Given the description of an element on the screen output the (x, y) to click on. 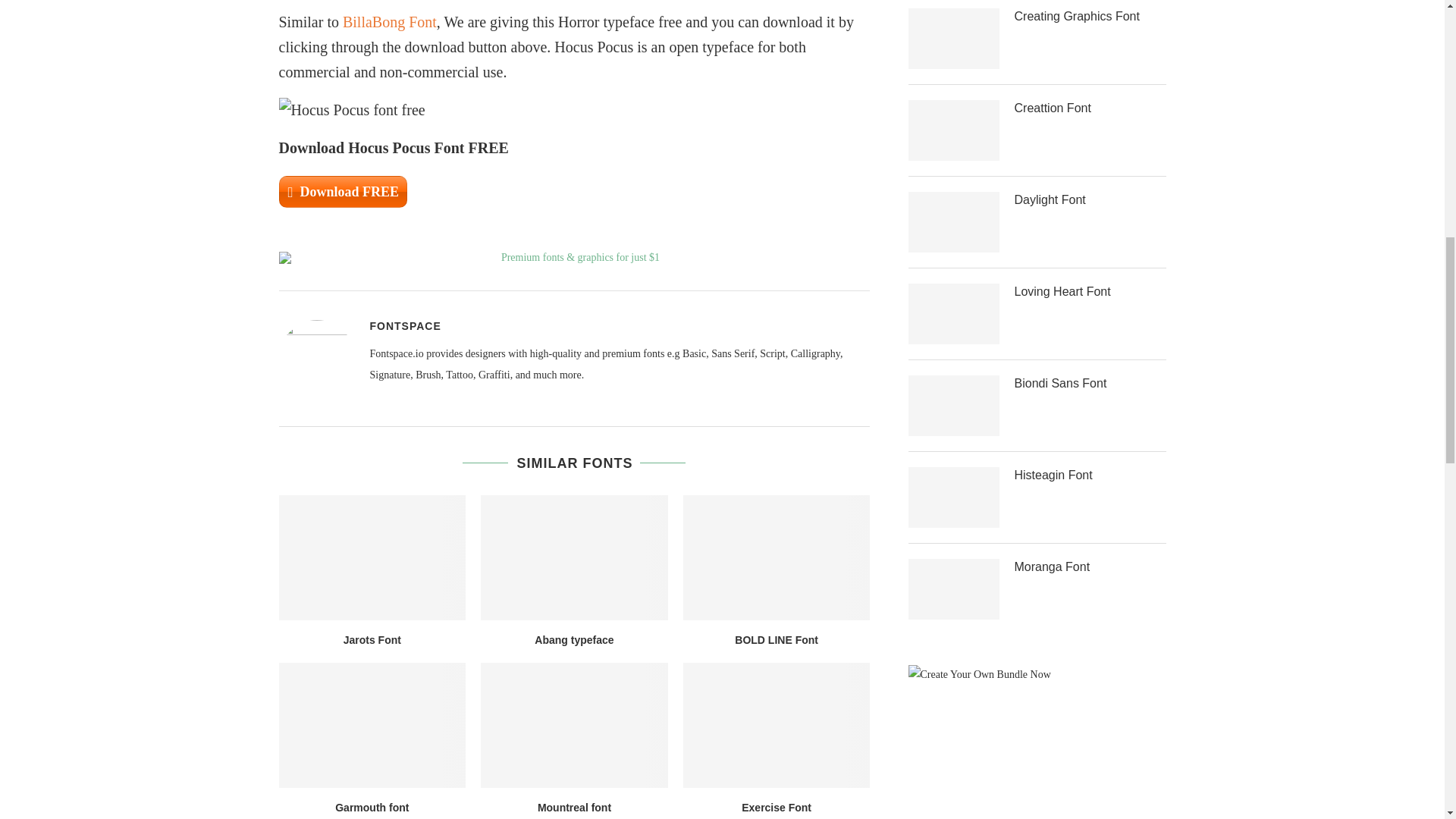
Abang typeface (574, 557)
Mountreal font (574, 724)
BOLD LINE Font (776, 557)
Garmouth font (372, 724)
Exercise Font (776, 724)
Jarots Font (372, 557)
Posts by Fontspace (405, 326)
